Given the description of an element on the screen output the (x, y) to click on. 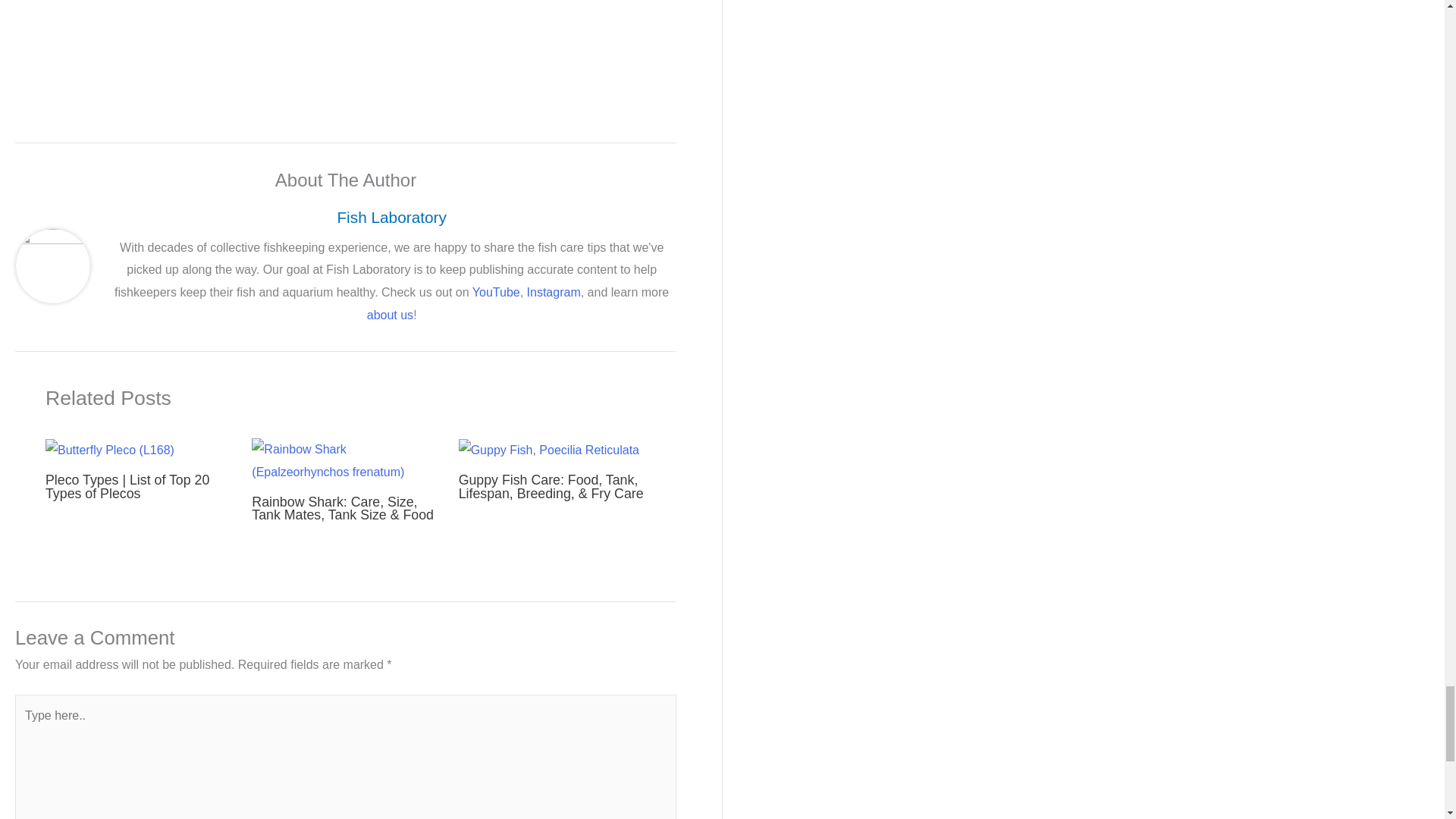
Fish Laboratory (391, 217)
about us (389, 314)
Instagram (553, 291)
YouTube (495, 291)
